Given the description of an element on the screen output the (x, y) to click on. 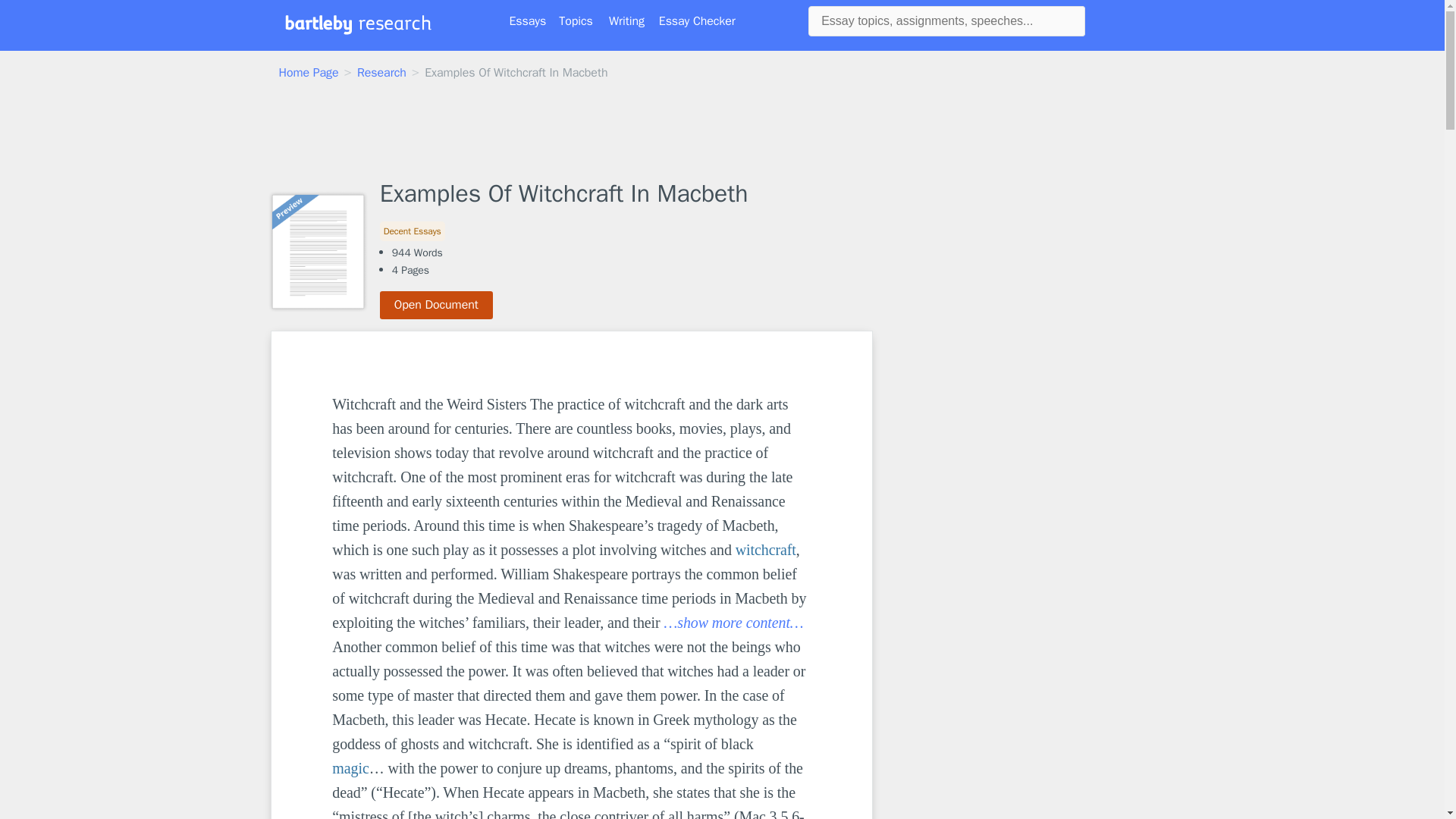
Research (381, 72)
Topics (575, 20)
Essay Checker (697, 20)
Home Page (309, 72)
Essays (528, 20)
Writing (626, 20)
Open Document (436, 305)
magic (349, 768)
witchcraft (765, 549)
